Given the description of an element on the screen output the (x, y) to click on. 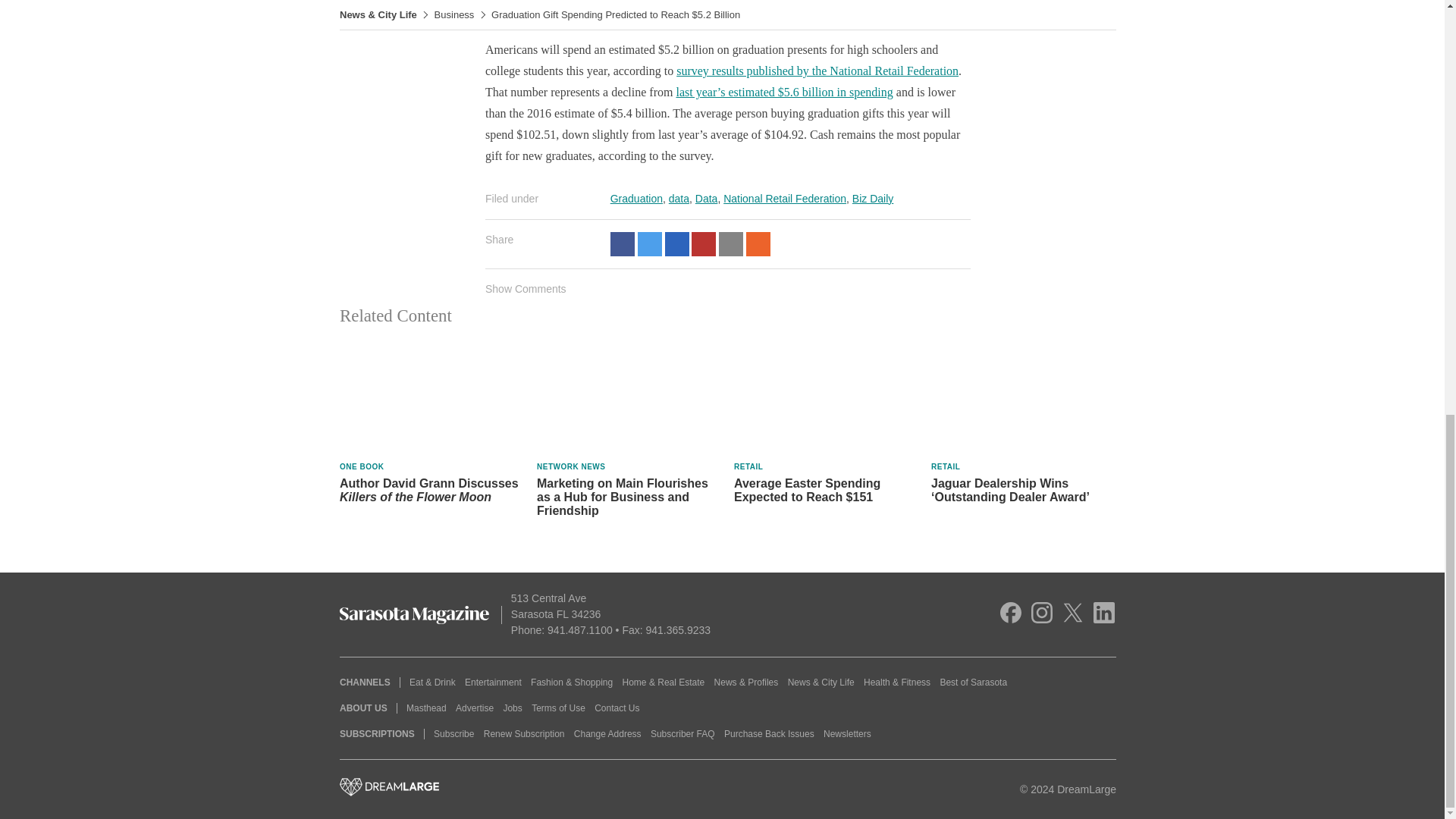
Share on LinkedIn (675, 243)
Share on Twitter (649, 243)
Share on Pinterest (703, 243)
Share on Facebook (622, 243)
Share on Reddit (757, 243)
Share via Email (730, 243)
